Given the description of an element on the screen output the (x, y) to click on. 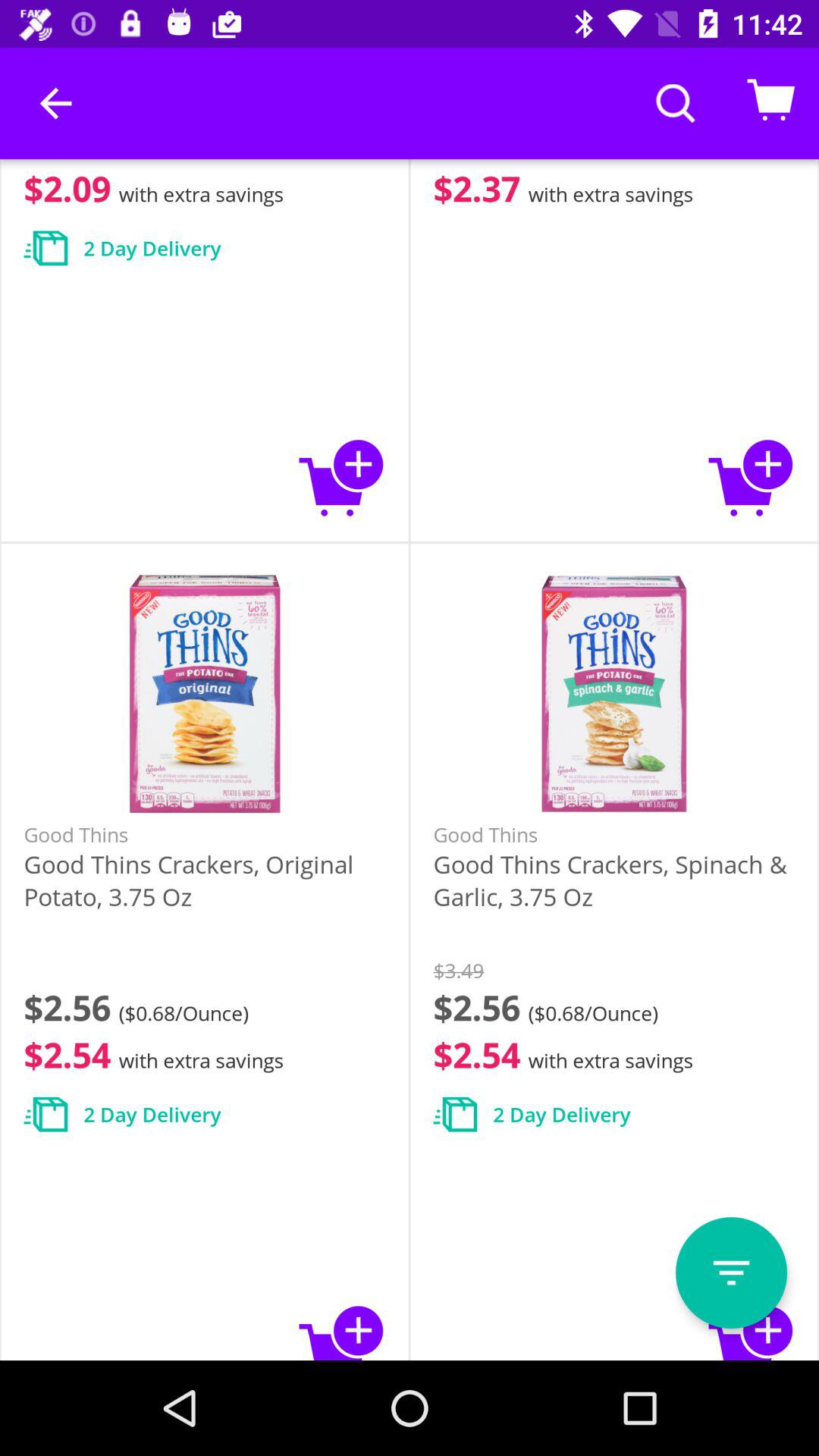
turn on icon to the left of the ($0.26/ounce) (55, 103)
